Given the description of an element on the screen output the (x, y) to click on. 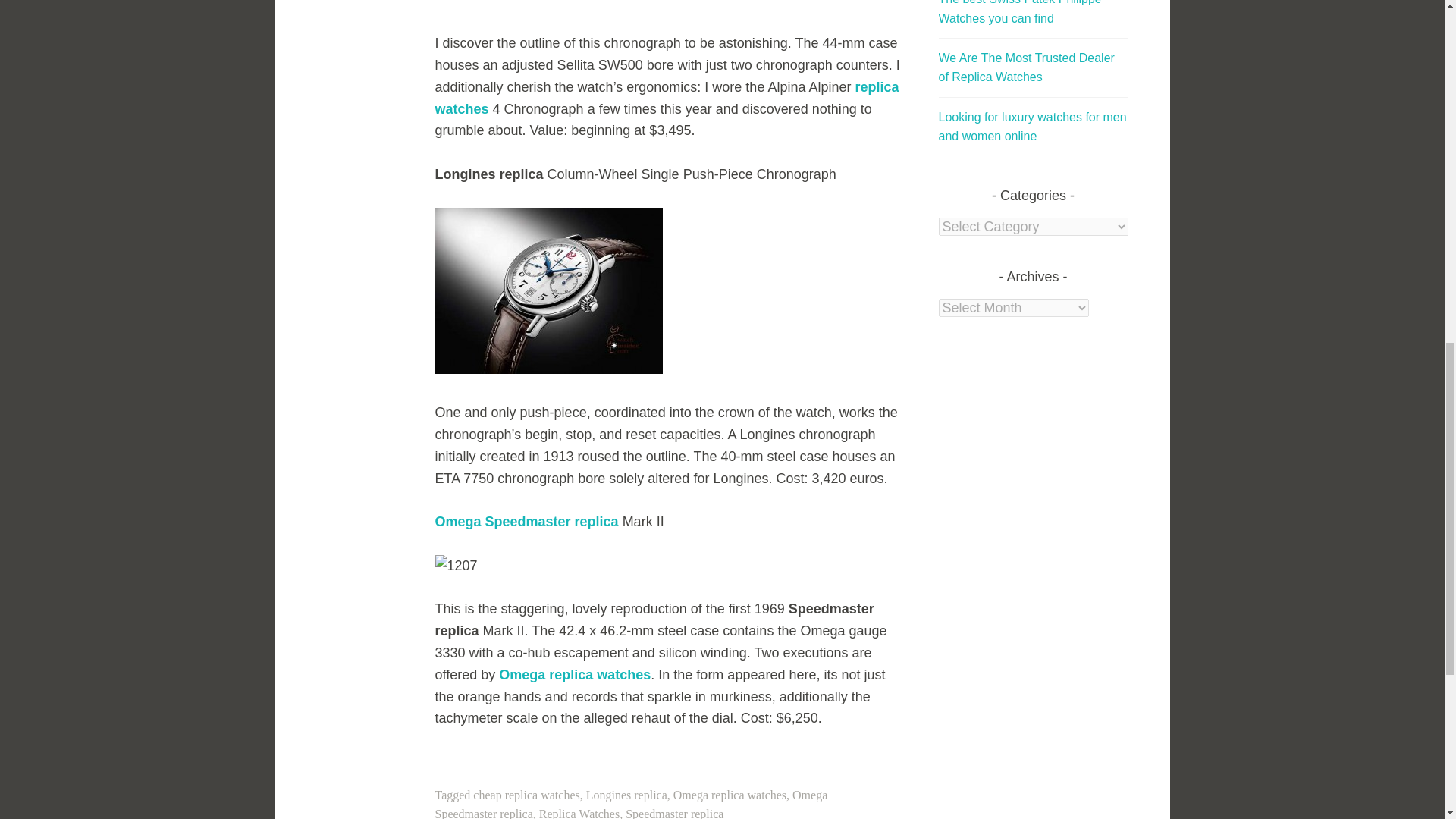
Omega replica watches (574, 674)
Longines replica (626, 794)
Replica Watches (579, 813)
Omega Speedmaster replica (631, 803)
cheap replica watches (526, 794)
Speedmaster replica (674, 813)
Omega Speedmaster replica (526, 521)
replica watches (667, 98)
Omega replica watches (729, 794)
